Given the description of an element on the screen output the (x, y) to click on. 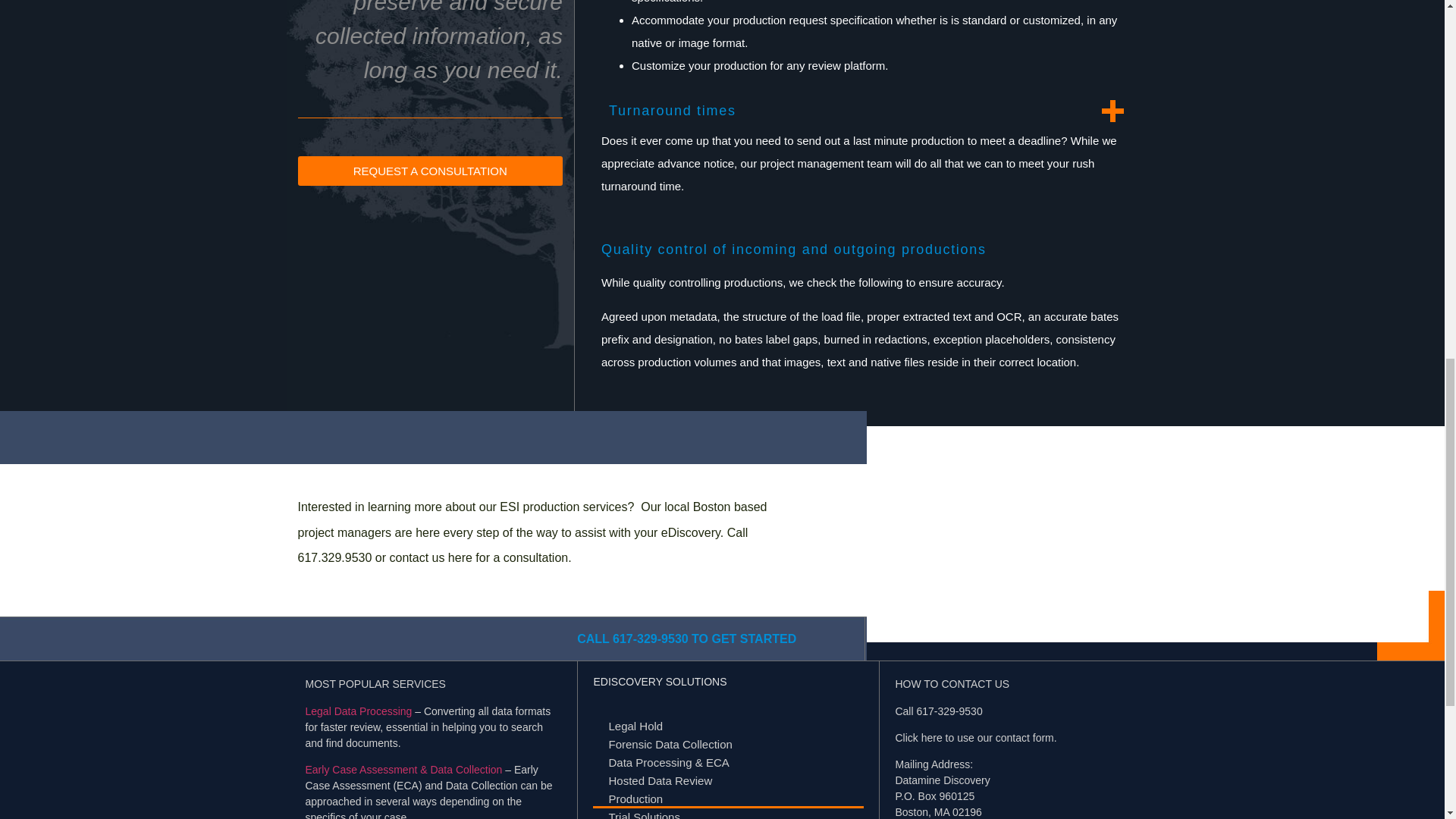
REQUEST A CONSULTATION (429, 170)
